Given the description of an element on the screen output the (x, y) to click on. 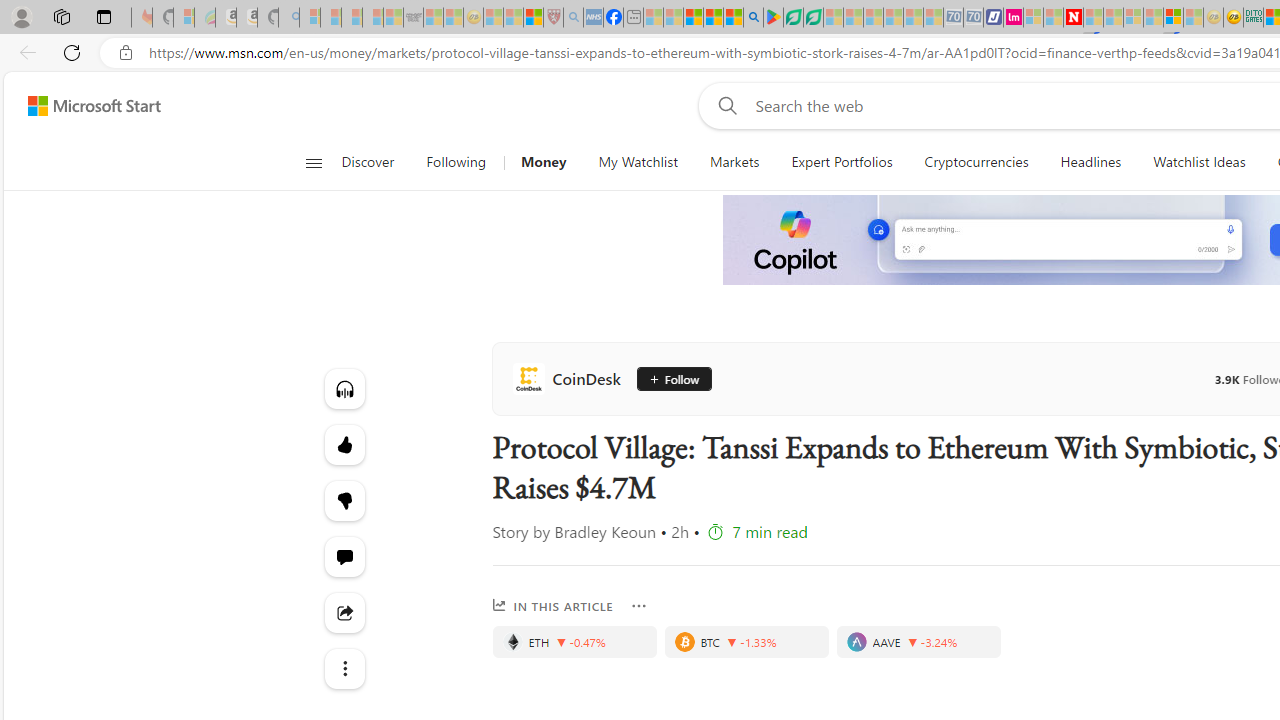
Headlines (1090, 162)
Bitcoin (684, 642)
